Given the description of an element on the screen output the (x, y) to click on. 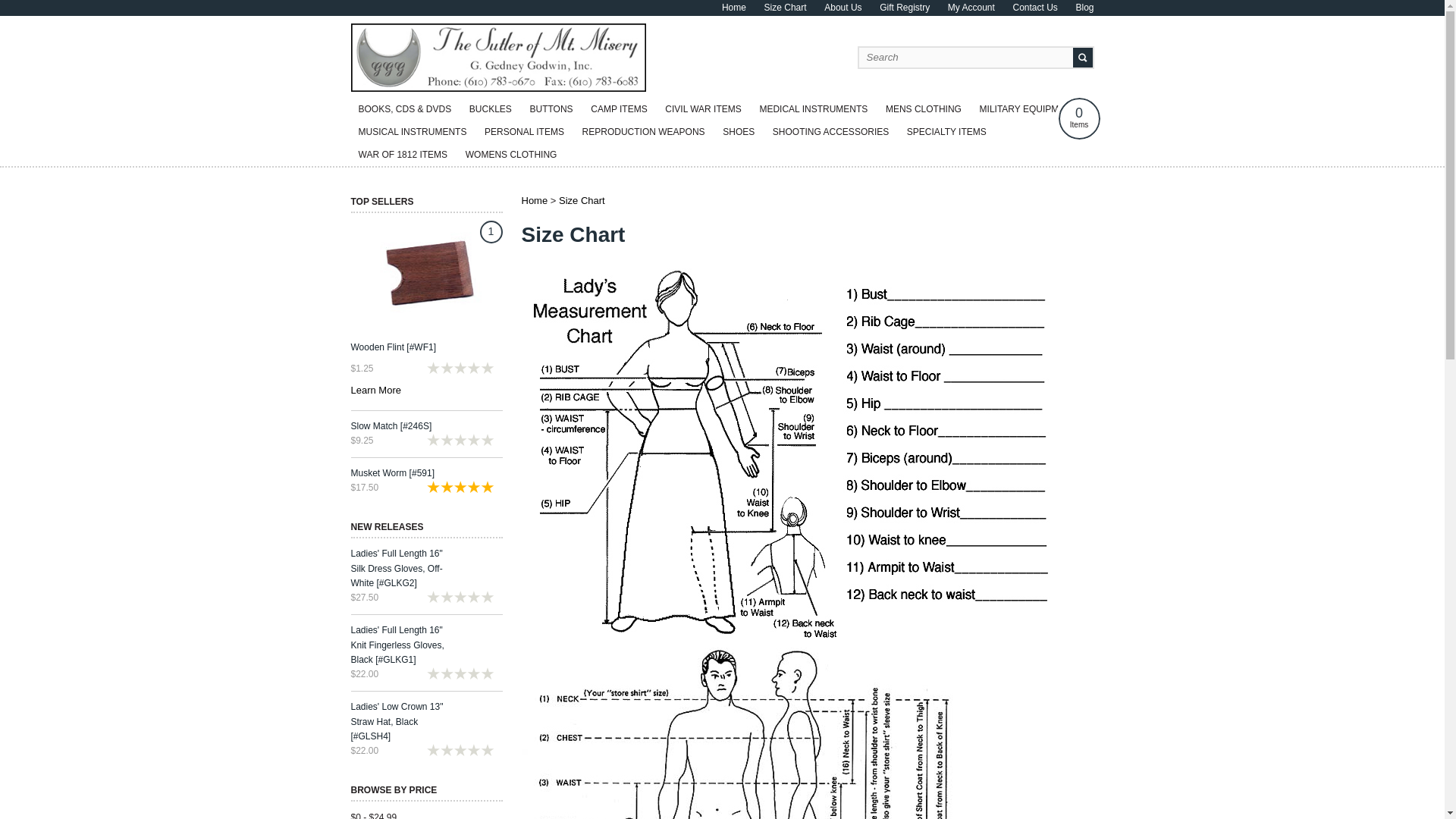
G. Gedney Godwin, Inc. (498, 88)
Home (733, 7)
Size Chart (785, 7)
About Us (842, 7)
